Given the description of an element on the screen output the (x, y) to click on. 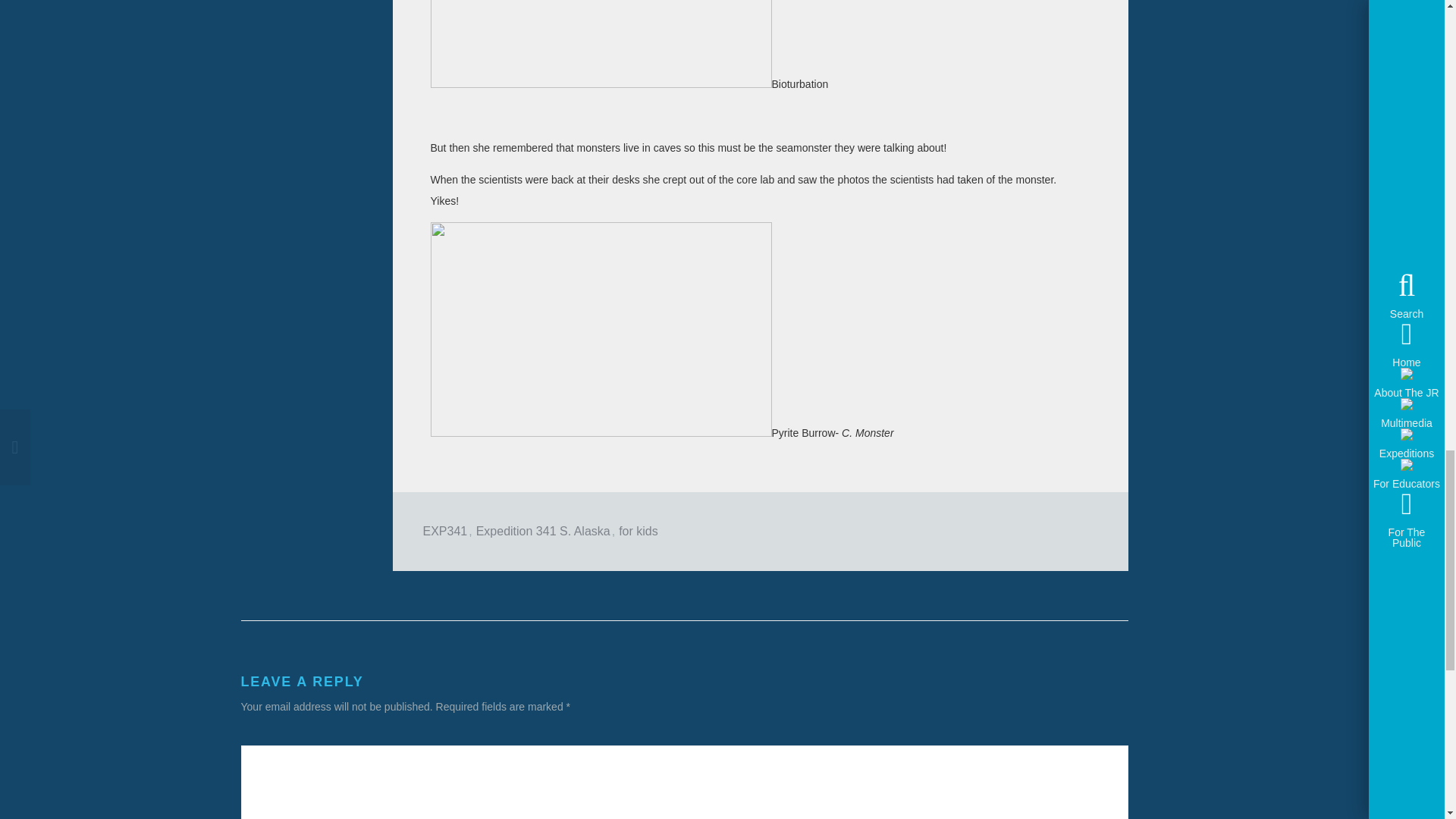
Expedition 341 S. Alaska (543, 530)
for kids (638, 530)
EXP341 (445, 530)
